Given the description of an element on the screen output the (x, y) to click on. 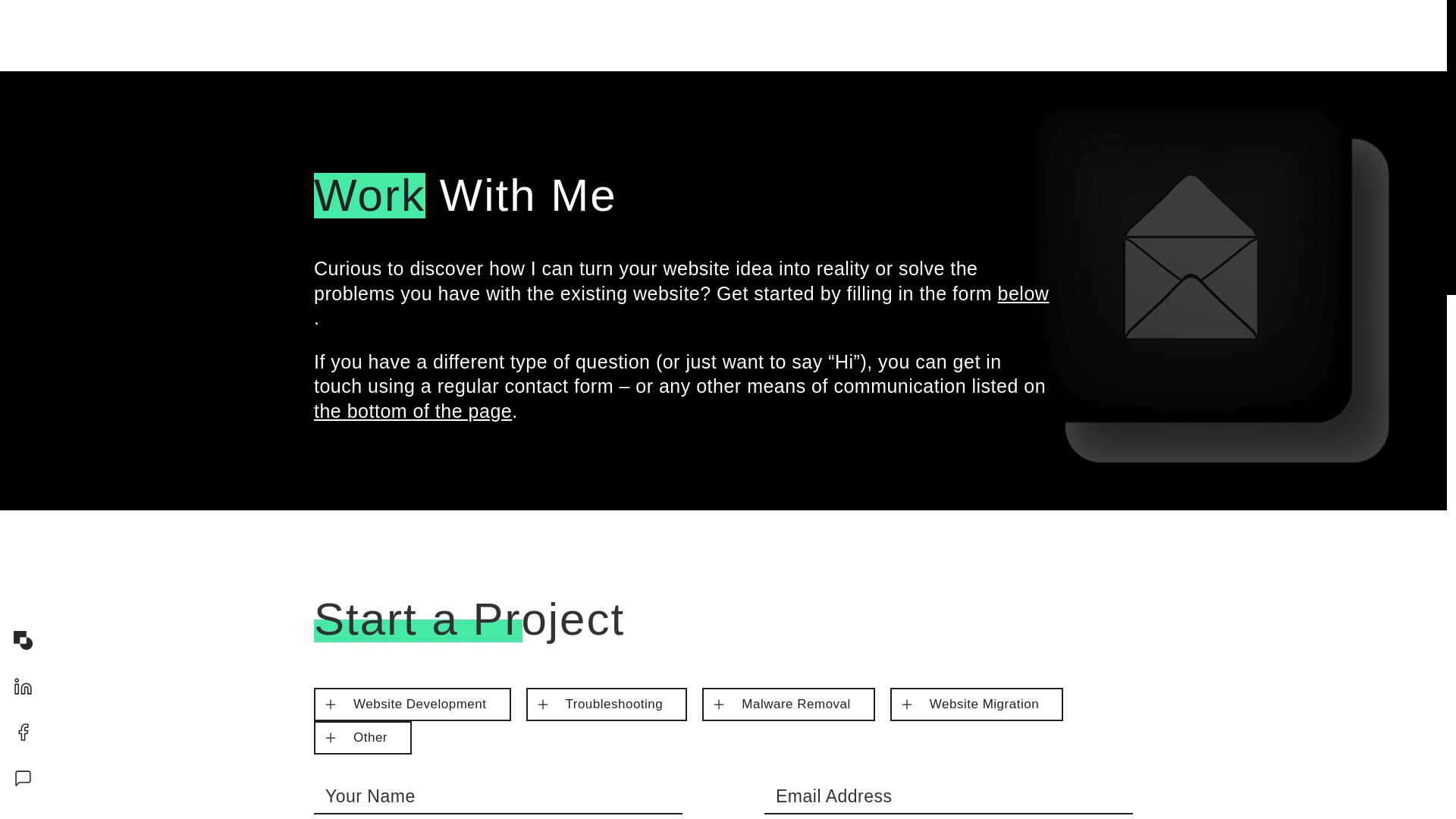
WORK WITH ME (1056, 35)
below (1023, 292)
the bottom of the page (413, 410)
